Given the description of an element on the screen output the (x, y) to click on. 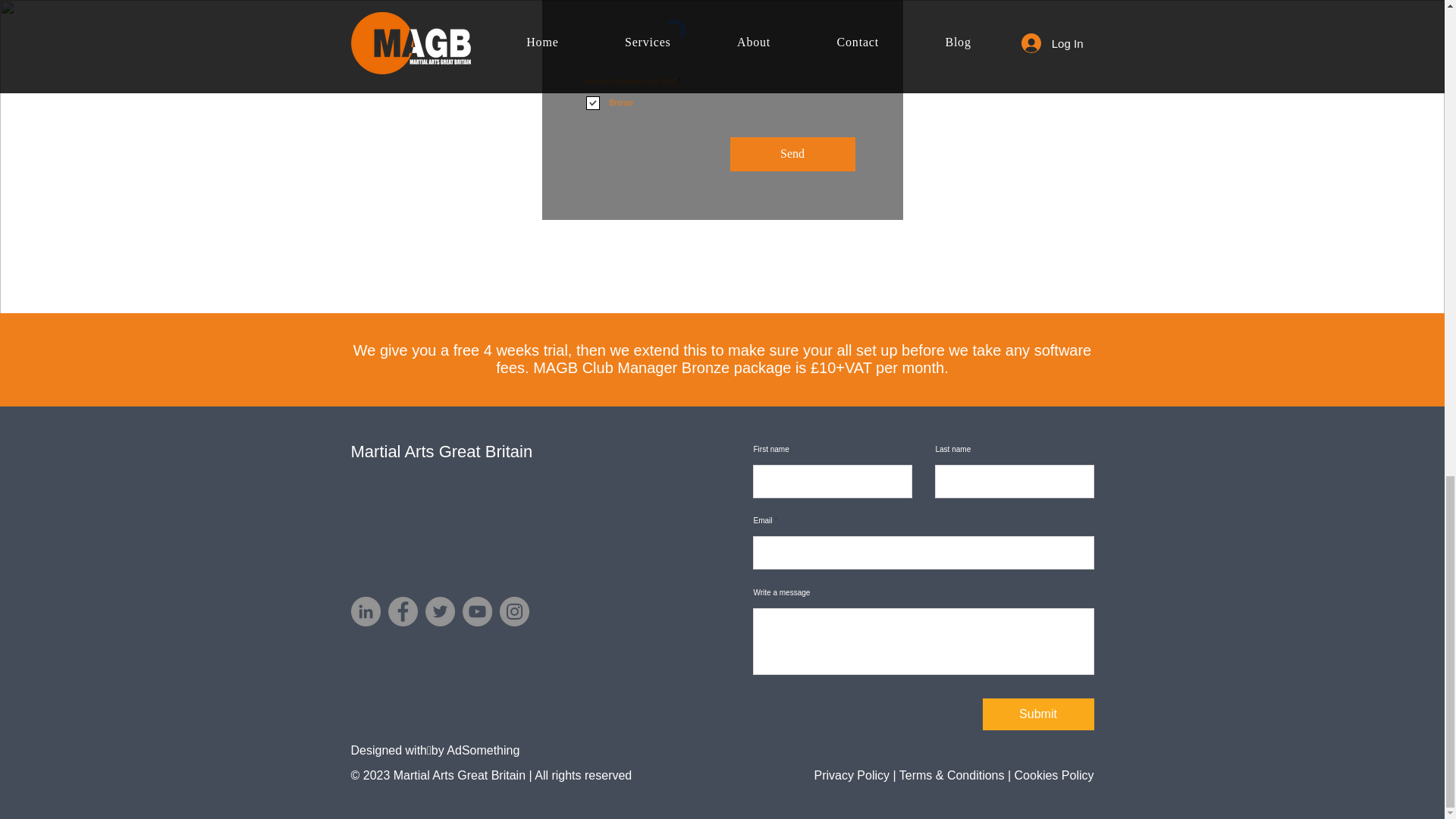
Send (791, 154)
Submit (1038, 714)
Privacy Policy (852, 775)
Cookies Policy (1054, 775)
